Given the description of an element on the screen output the (x, y) to click on. 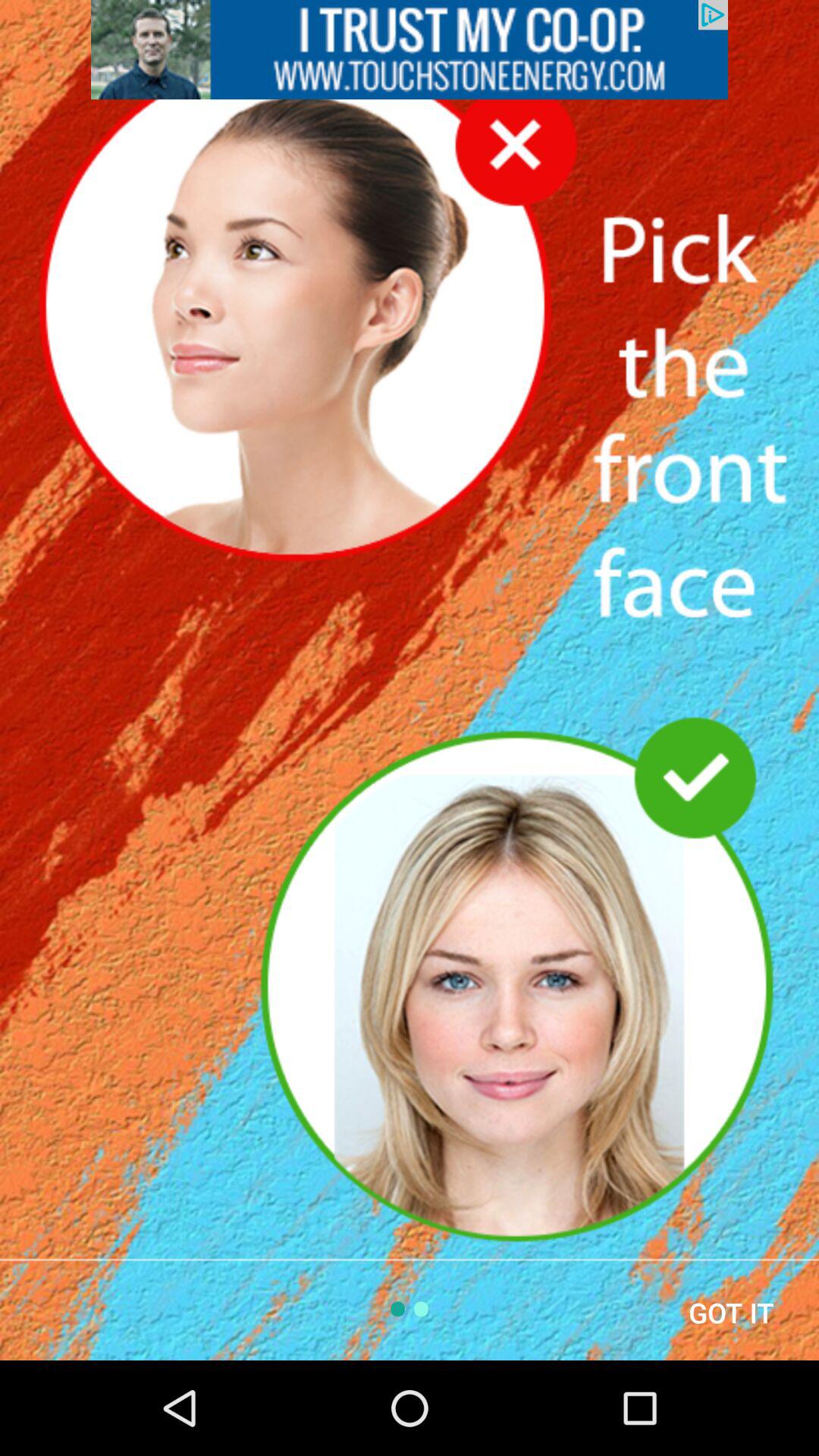
advertisement (409, 49)
